Given the description of an element on the screen output the (x, y) to click on. 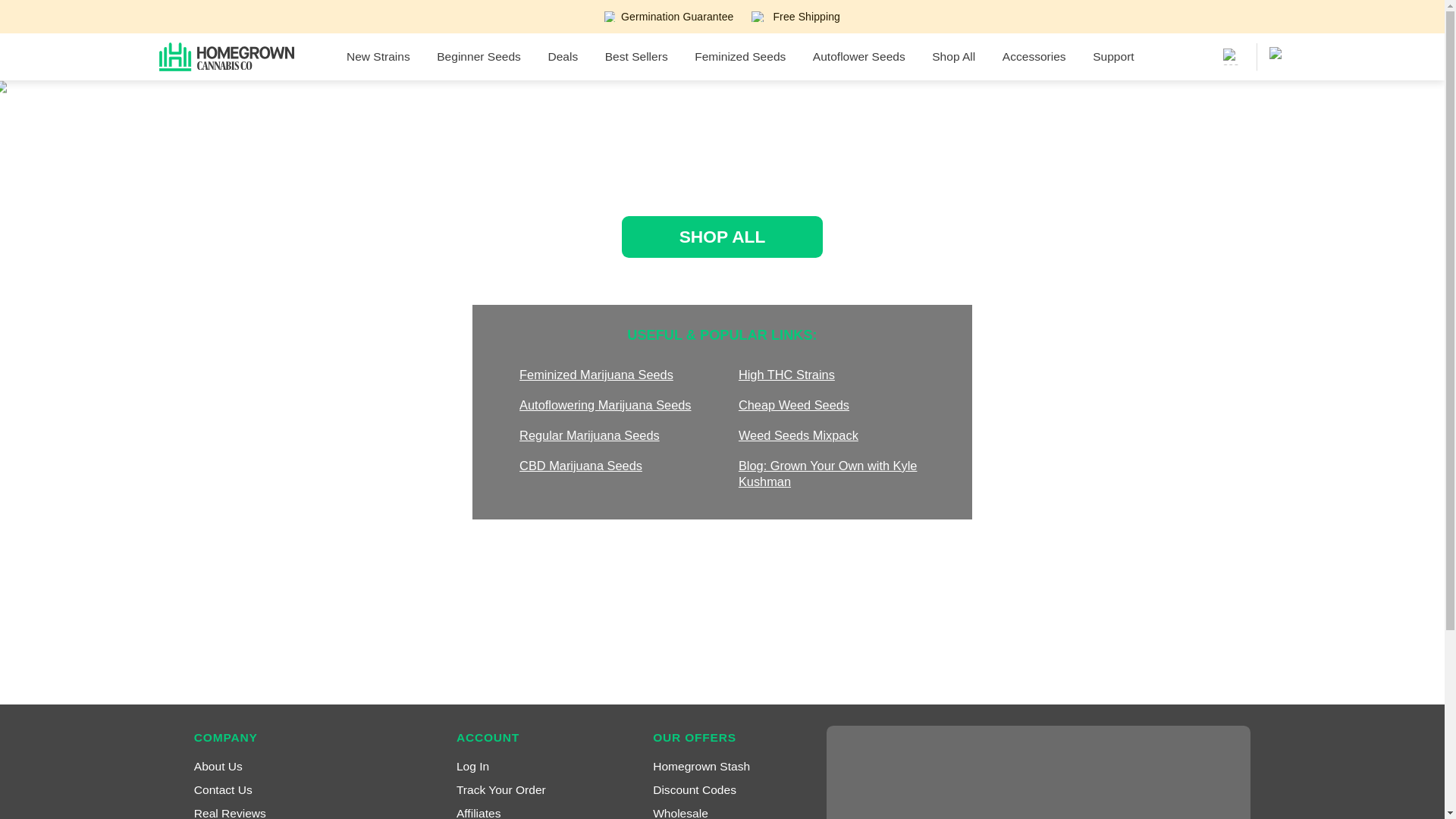
Feminized Seeds (740, 56)
Beginner Seeds (478, 56)
Autoflower Seeds (858, 56)
Best Sellers (636, 56)
Homegrown Cannabis Co. (226, 56)
New Strains (378, 56)
